Given the description of an element on the screen output the (x, y) to click on. 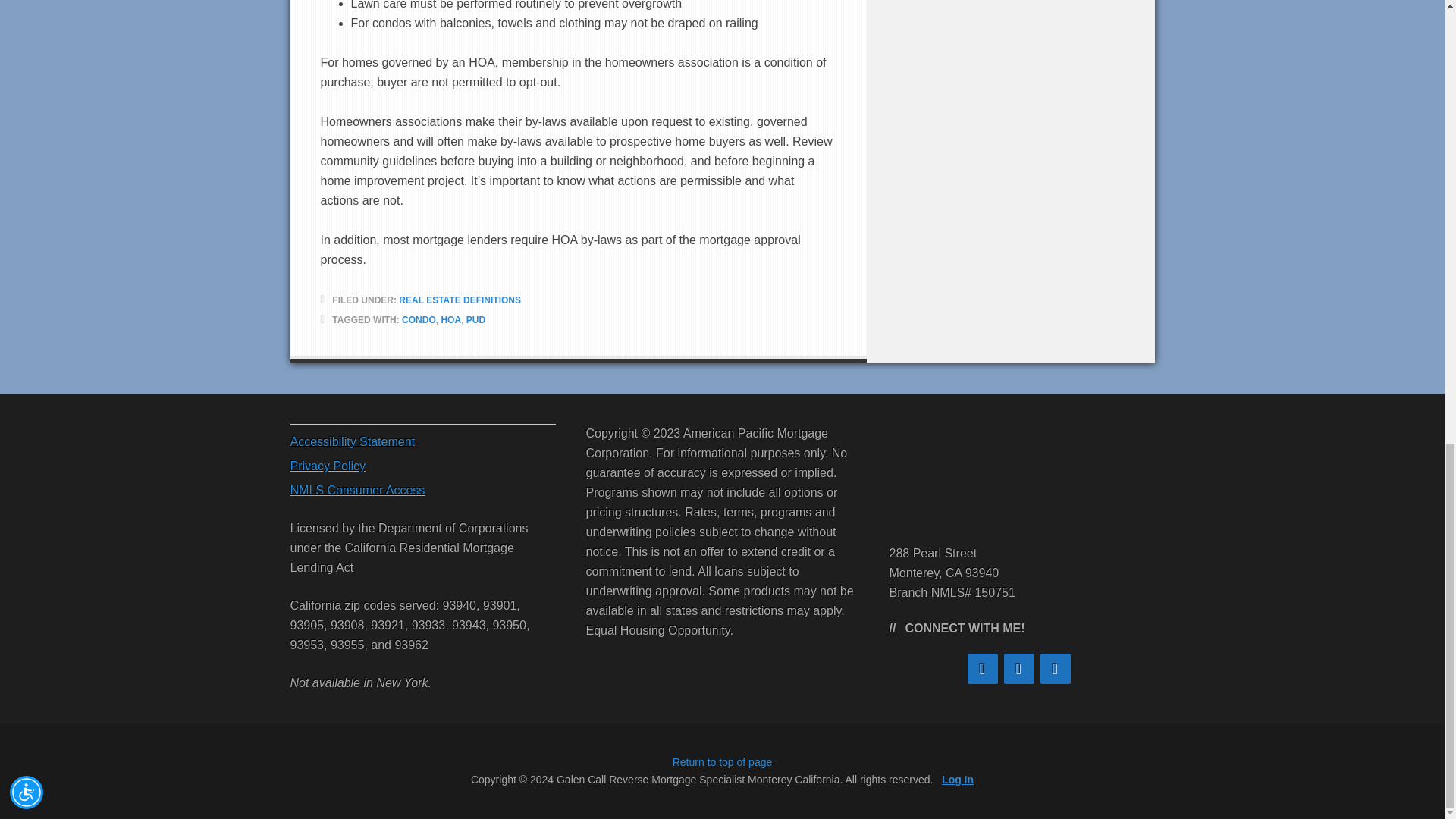
CONDO (418, 319)
Accessibility Statement (351, 440)
NMLS Consumer Access (357, 490)
HOA (451, 319)
REAL ESTATE DEFINITIONS (459, 299)
PUD (474, 319)
Privacy Policy (327, 465)
